Given the description of an element on the screen output the (x, y) to click on. 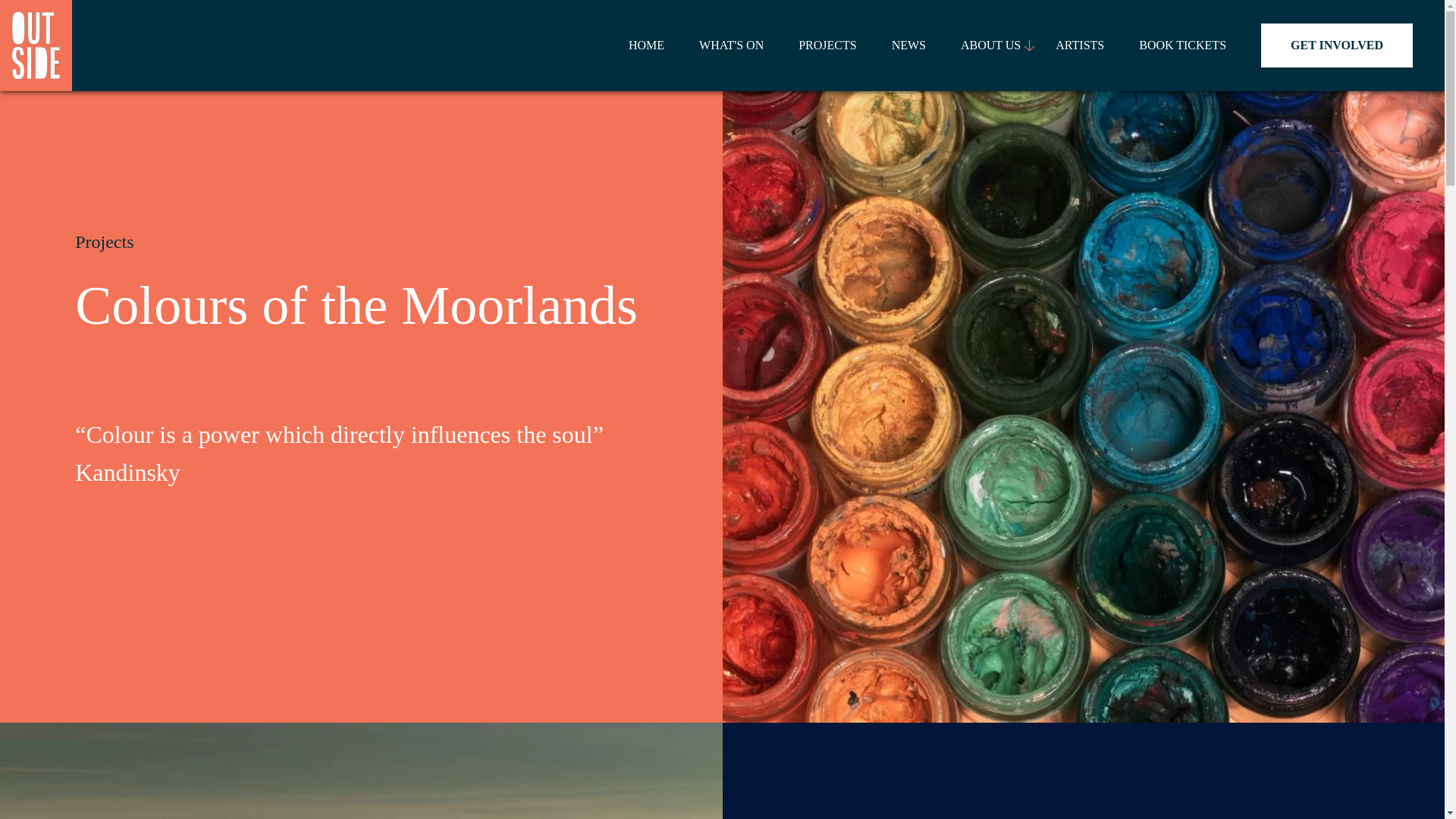
BOOK TICKETS (1181, 42)
GET INVOLVED (1336, 44)
ABOUT US (990, 18)
ARTISTS (1079, 40)
PROJECTS (826, 2)
NEWS (908, 9)
